Given the description of an element on the screen output the (x, y) to click on. 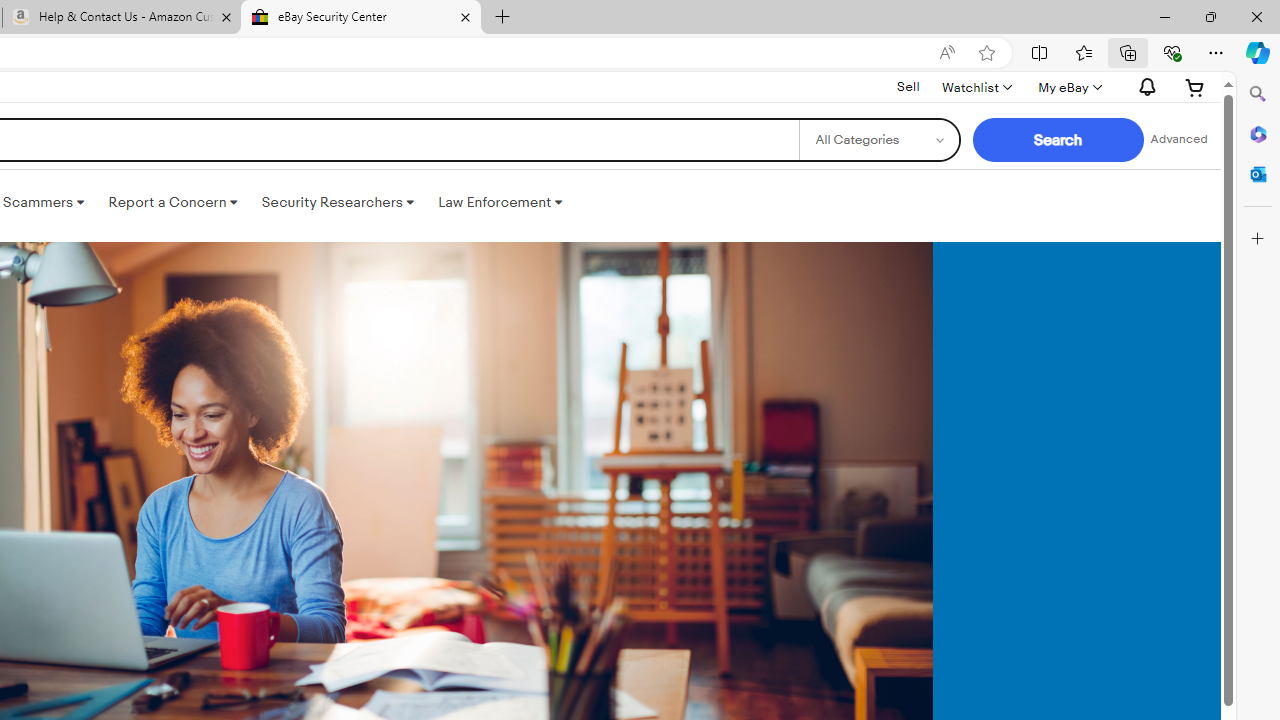
Security Researchers  (337, 202)
Report a Concern  (173, 202)
WatchlistExpand Watch List (975, 87)
